Given the description of an element on the screen output the (x, y) to click on. 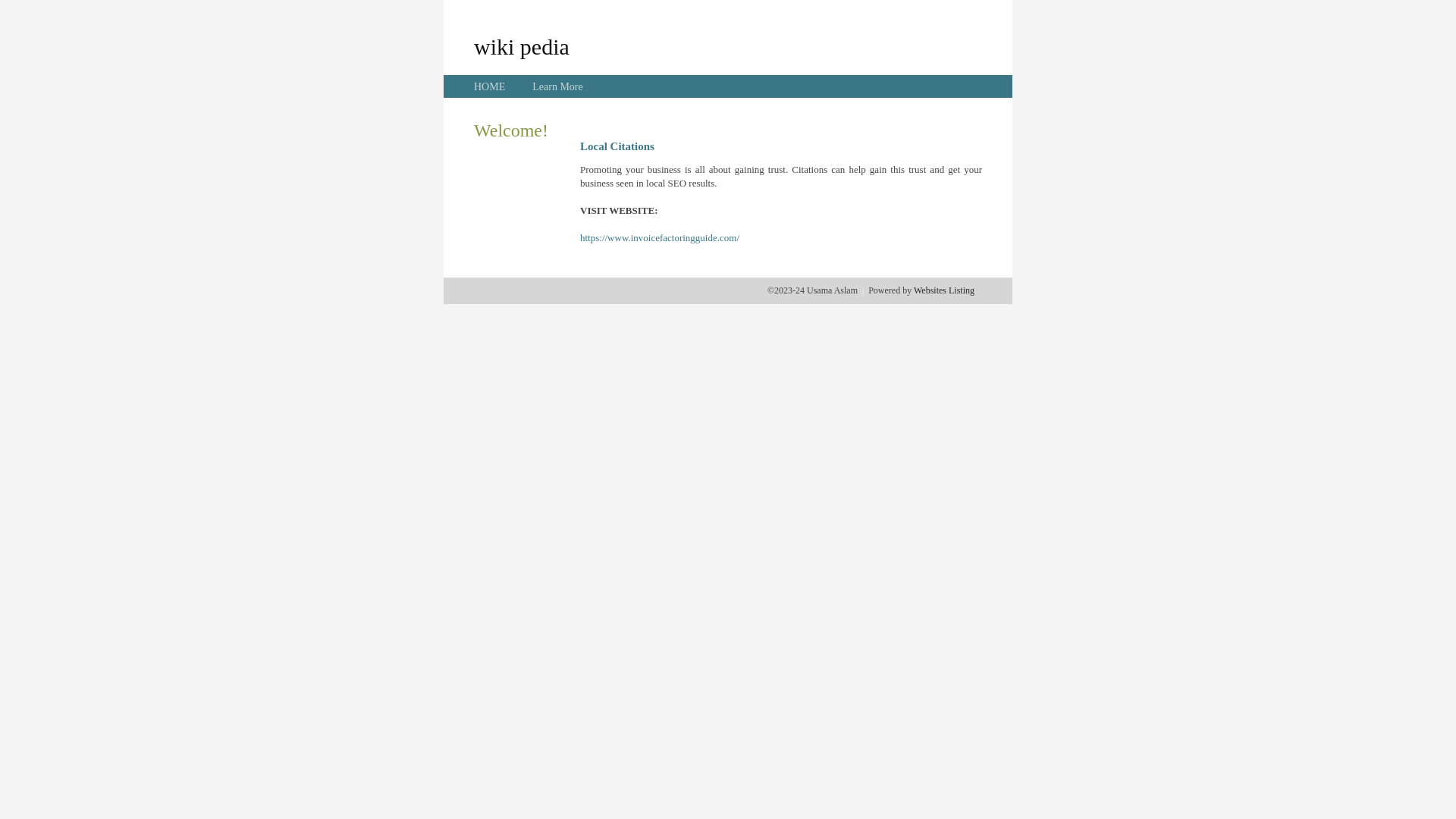
HOME Element type: text (489, 86)
https://www.invoicefactoringguide.com/ Element type: text (659, 237)
wiki pedia Element type: text (521, 46)
Websites Listing Element type: text (943, 290)
Learn More Element type: text (557, 86)
